Given the description of an element on the screen output the (x, y) to click on. 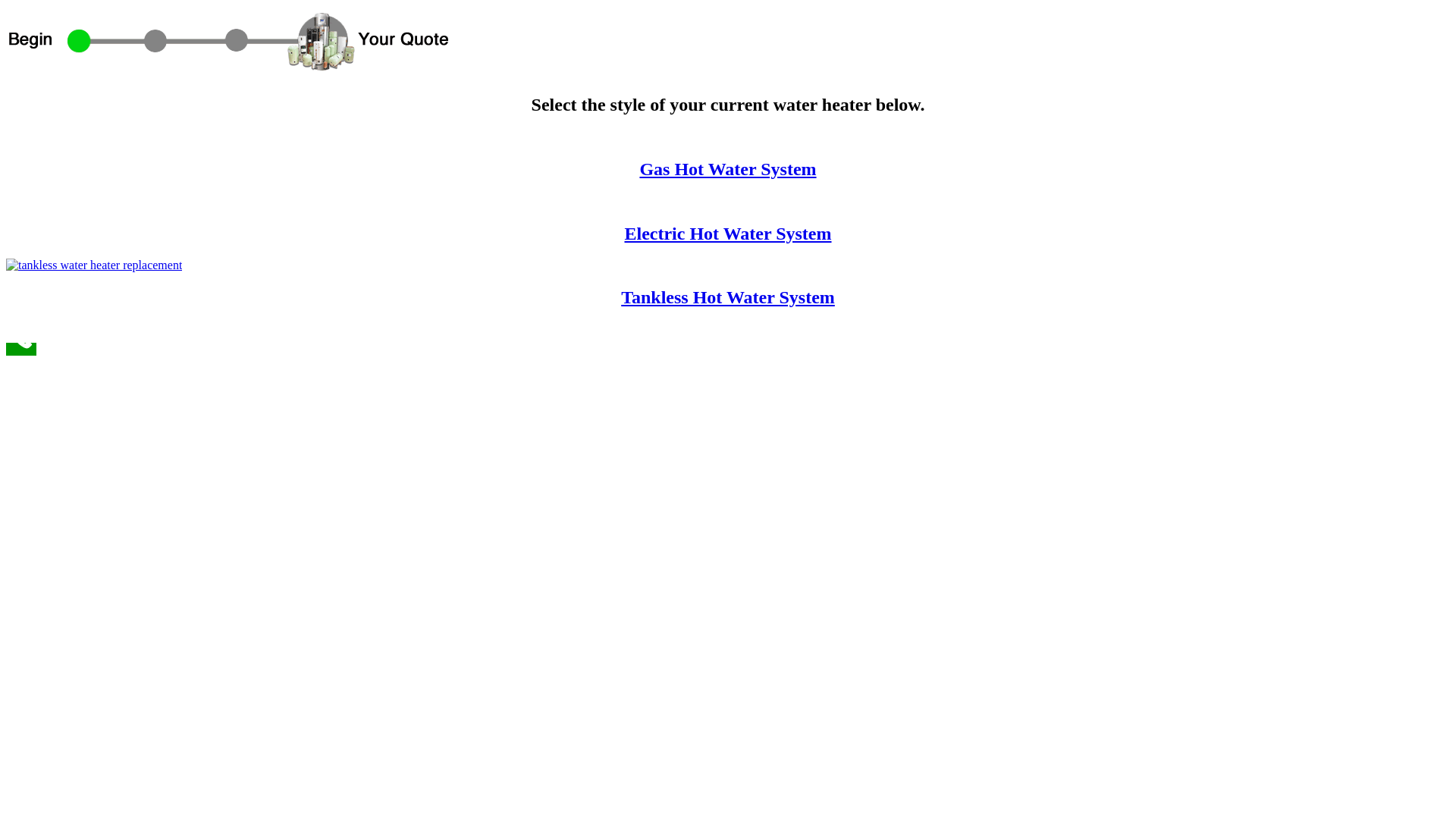
Electric Hot Water System Element type: text (727, 233)
Gas Hot Water System Element type: text (727, 168)
Tankless Hot Water System Element type: text (727, 297)
